Given the description of an element on the screen output the (x, y) to click on. 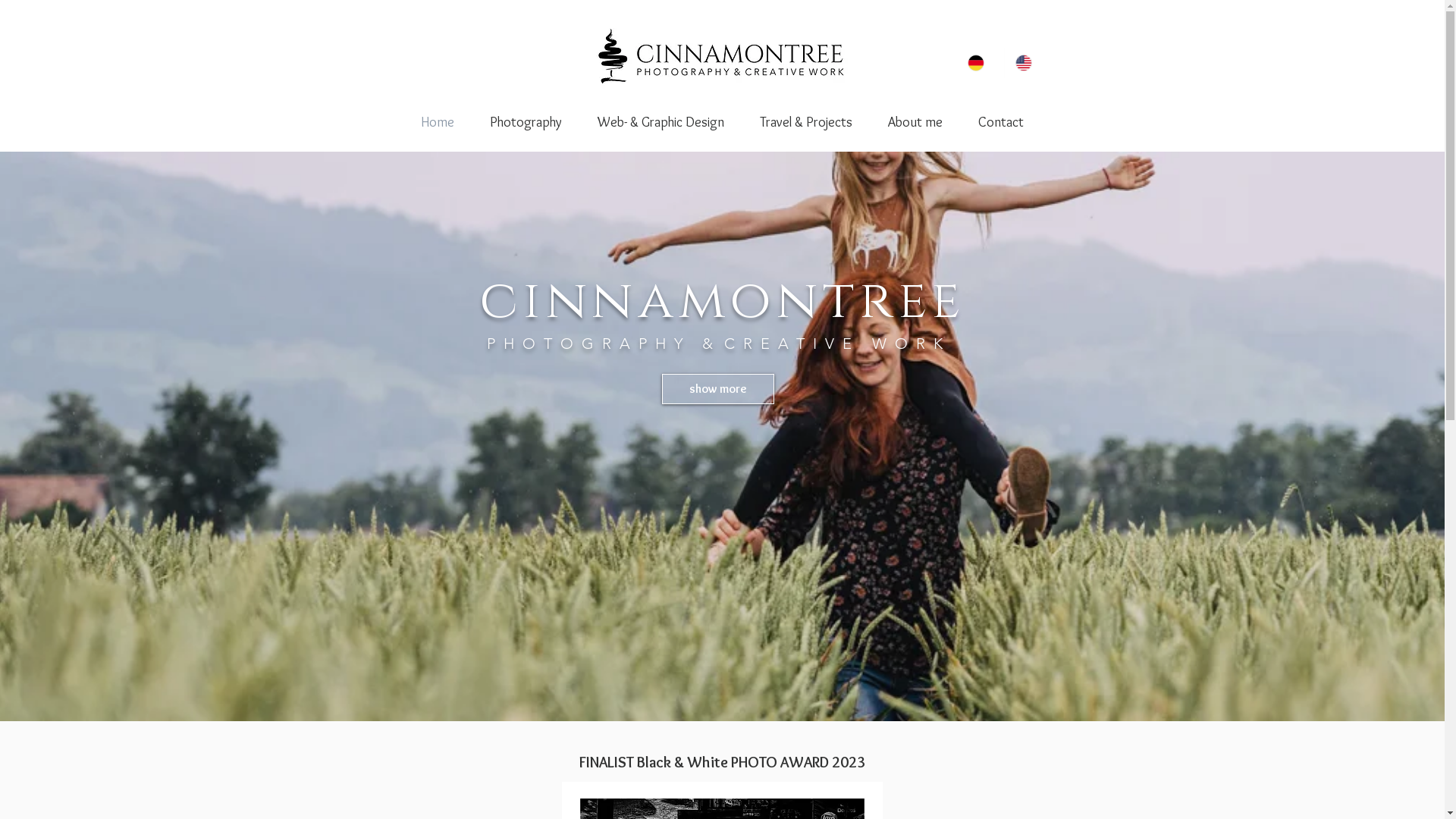
show more Element type: text (717, 388)
CT.png Element type: hover (722, 57)
Contact Element type: text (1000, 122)
About me Element type: text (915, 122)
Photography Element type: text (525, 122)
Home Element type: text (437, 122)
Web- & Graphic Design Element type: text (660, 122)
Travel & Projects Element type: text (805, 122)
